Given the description of an element on the screen output the (x, y) to click on. 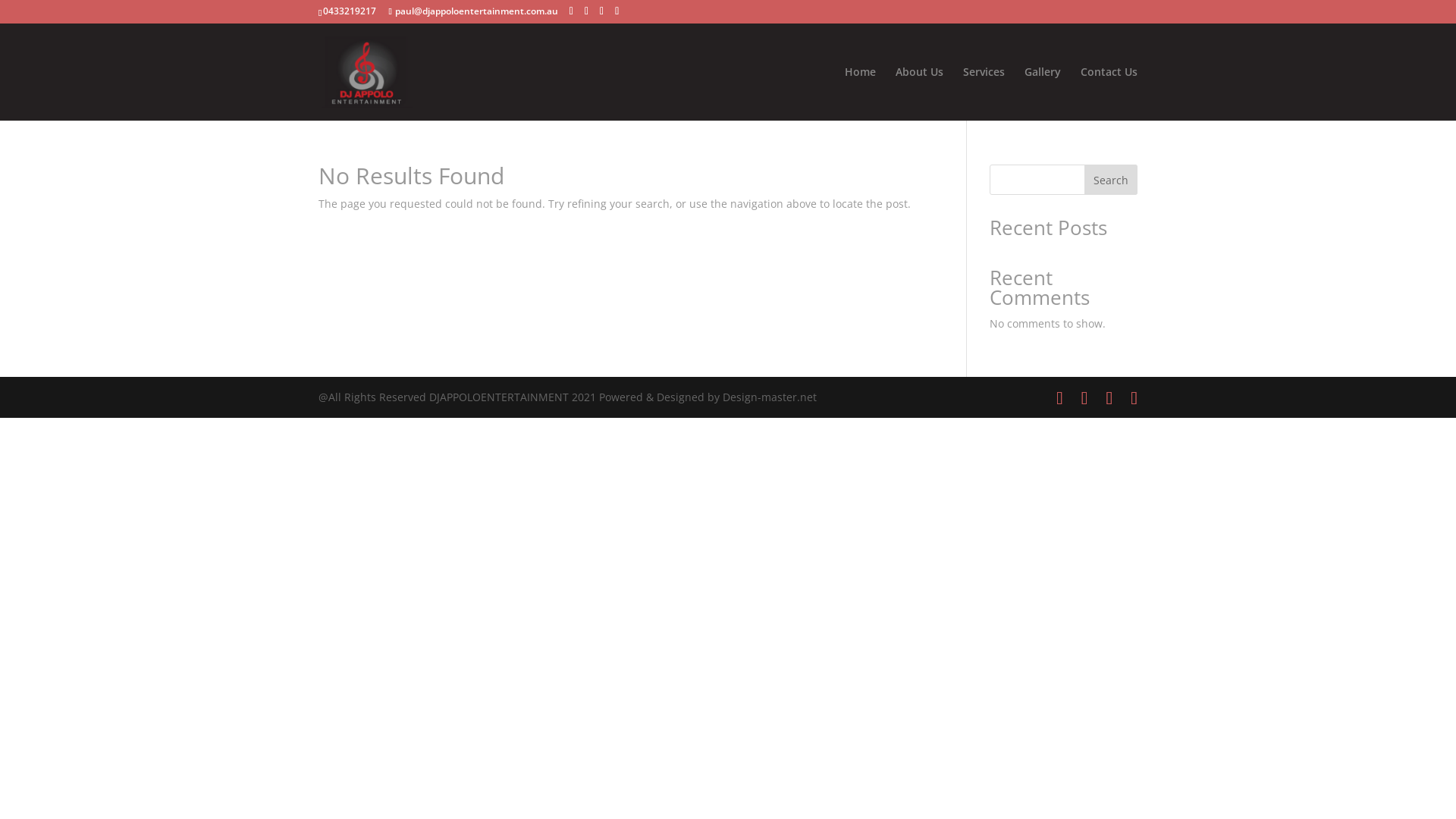
Contact Us Element type: text (1108, 93)
Gallery Element type: text (1042, 93)
paul@djappoloentertainment.com.au Element type: text (472, 10)
Search Element type: text (1110, 179)
About Us Element type: text (919, 93)
Home Element type: text (859, 93)
Services Element type: text (983, 93)
